Given the description of an element on the screen output the (x, y) to click on. 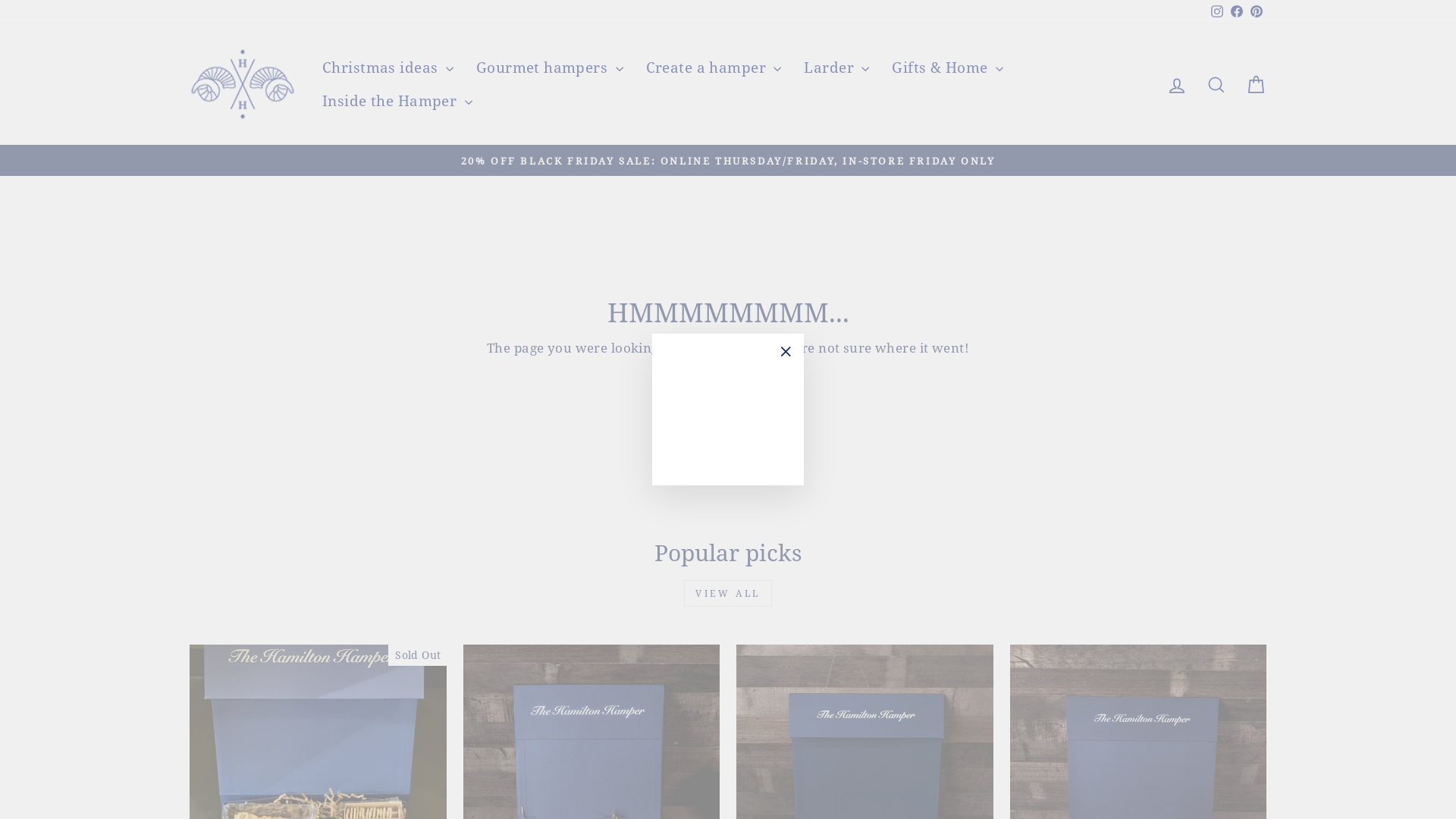
Continue shopping Element type: text (727, 375)
icon-search
Search Element type: text (1216, 84)
account
Log in Element type: text (1176, 84)
Facebook Element type: text (1236, 12)
VIEW ALL Element type: text (727, 593)
icon-X
"Close (esc)" Element type: text (785, 351)
Cart Element type: text (1255, 84)
instagram
Instagram Element type: text (1216, 12)
Pinterest Element type: text (1256, 12)
